Given the description of an element on the screen output the (x, y) to click on. 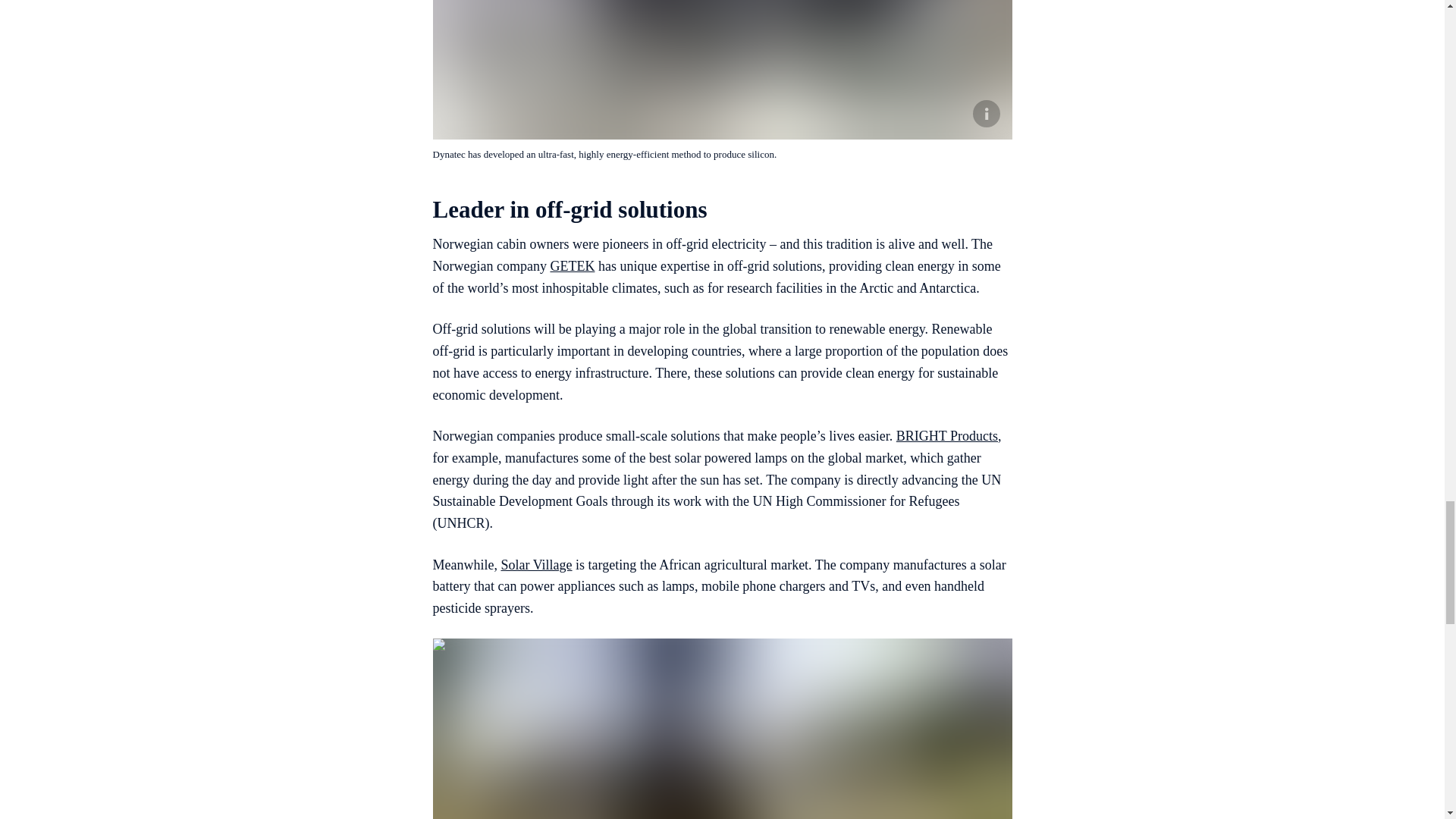
Solar Village (536, 563)
GETEK (572, 265)
BRIGHT Products (946, 435)
